Given the description of an element on the screen output the (x, y) to click on. 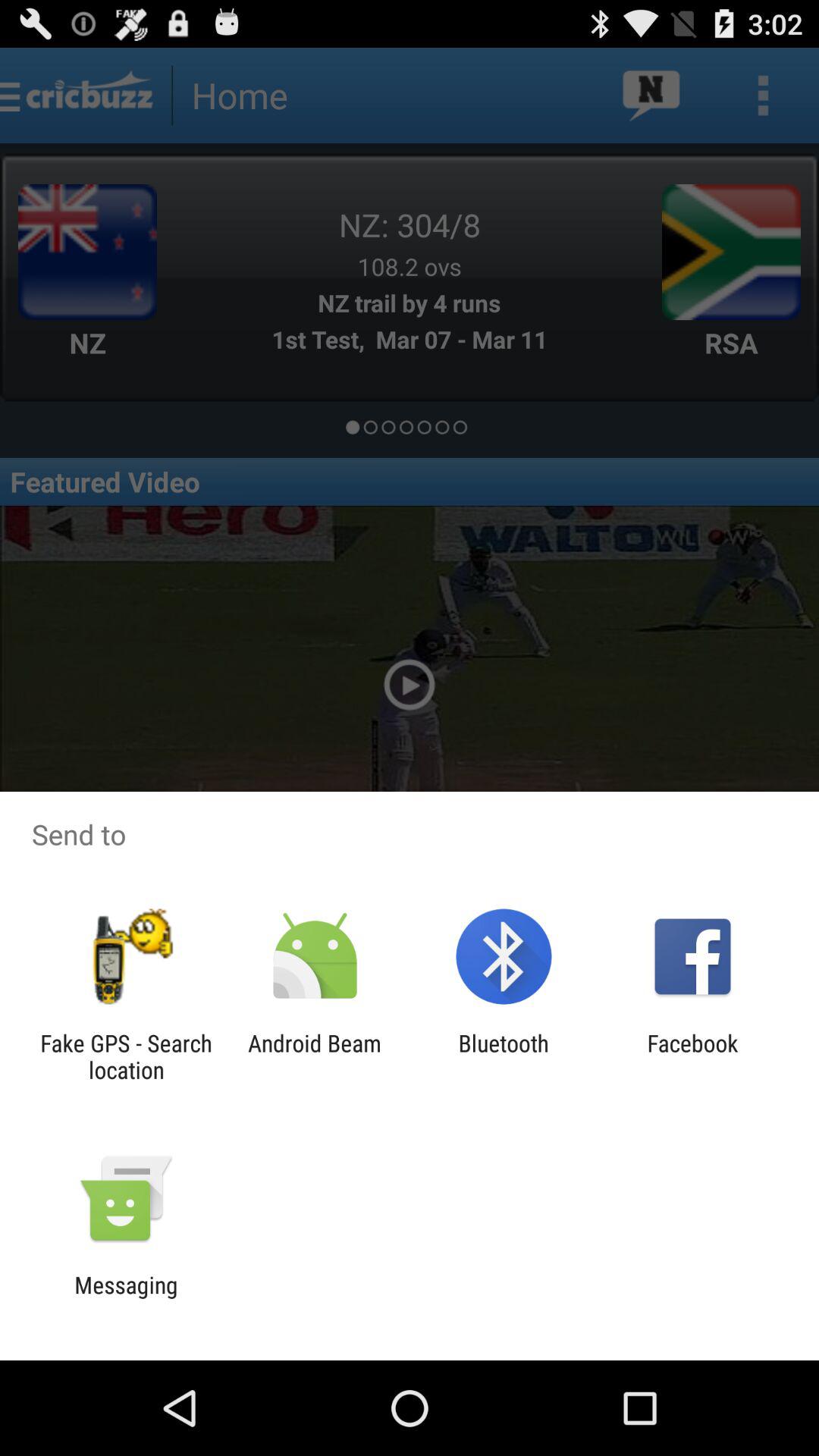
turn off app next to the android beam (503, 1056)
